Given the description of an element on the screen output the (x, y) to click on. 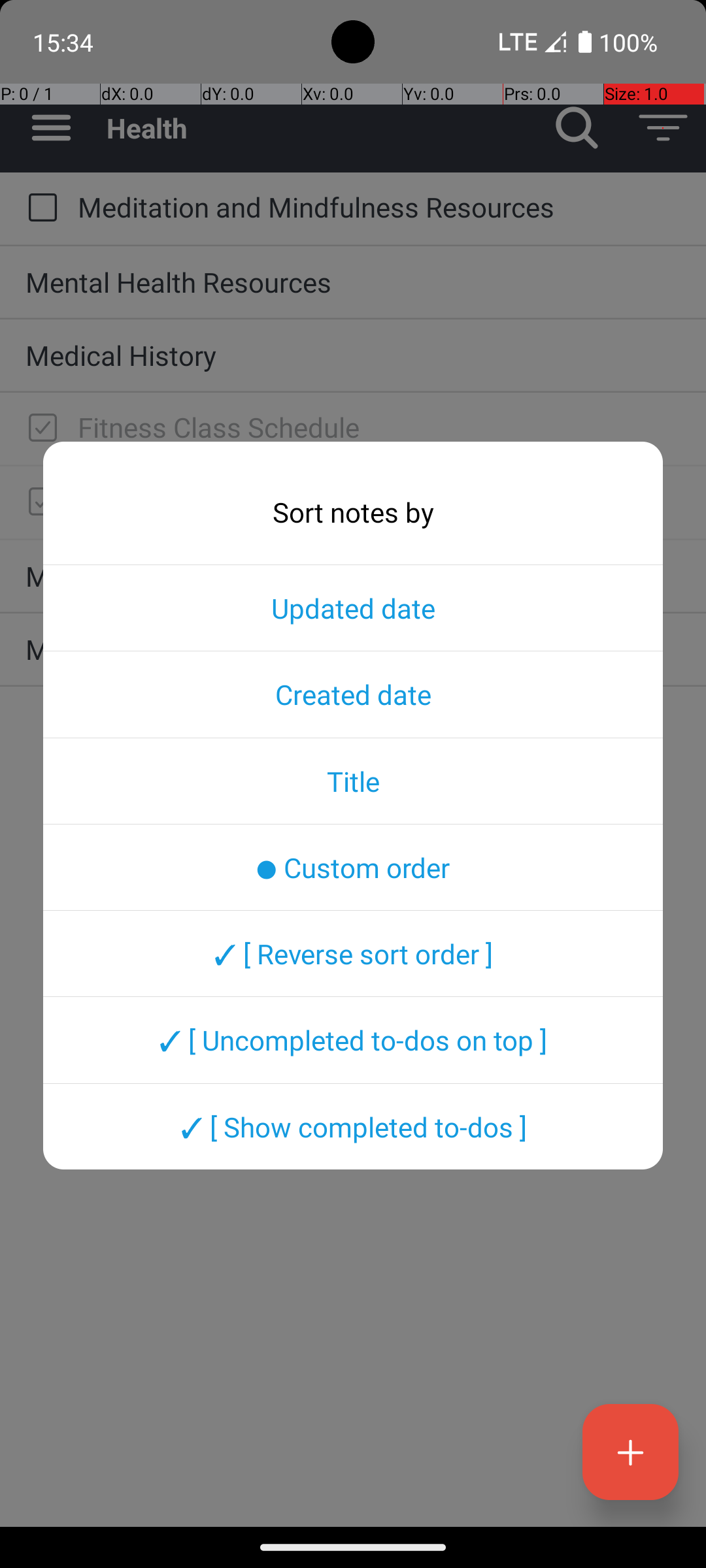
Updated date Element type: android.widget.TextView (352, 607)
Created date Element type: android.widget.TextView (352, 693)
⬤ Custom order Element type: android.widget.TextView (352, 866)
✓ [ Reverse sort order ] Element type: android.widget.TextView (352, 953)
✓ [ Uncompleted to-dos on top ] Element type: android.widget.TextView (352, 1039)
✓ [ Show completed to-dos ] Element type: android.widget.TextView (352, 1126)
to-do: Meditation and Mindfulness Resources Element type: android.widget.CheckBox (38, 208)
Meditation and Mindfulness Resources Element type: android.widget.TextView (378, 206)
Mental Health Resources Element type: android.widget.TextView (352, 281)
Medical History Element type: android.widget.TextView (352, 354)
to-do: Fitness Class Schedule Element type: android.widget.CheckBox (38, 428)
Fitness Class Schedule Element type: android.widget.TextView (378, 426)
to-do: Health Challenges and Solutions Element type: android.widget.CheckBox (38, 502)
Health Challenges and Solutions Element type: android.widget.TextView (378, 500)
